Given the description of an element on the screen output the (x, y) to click on. 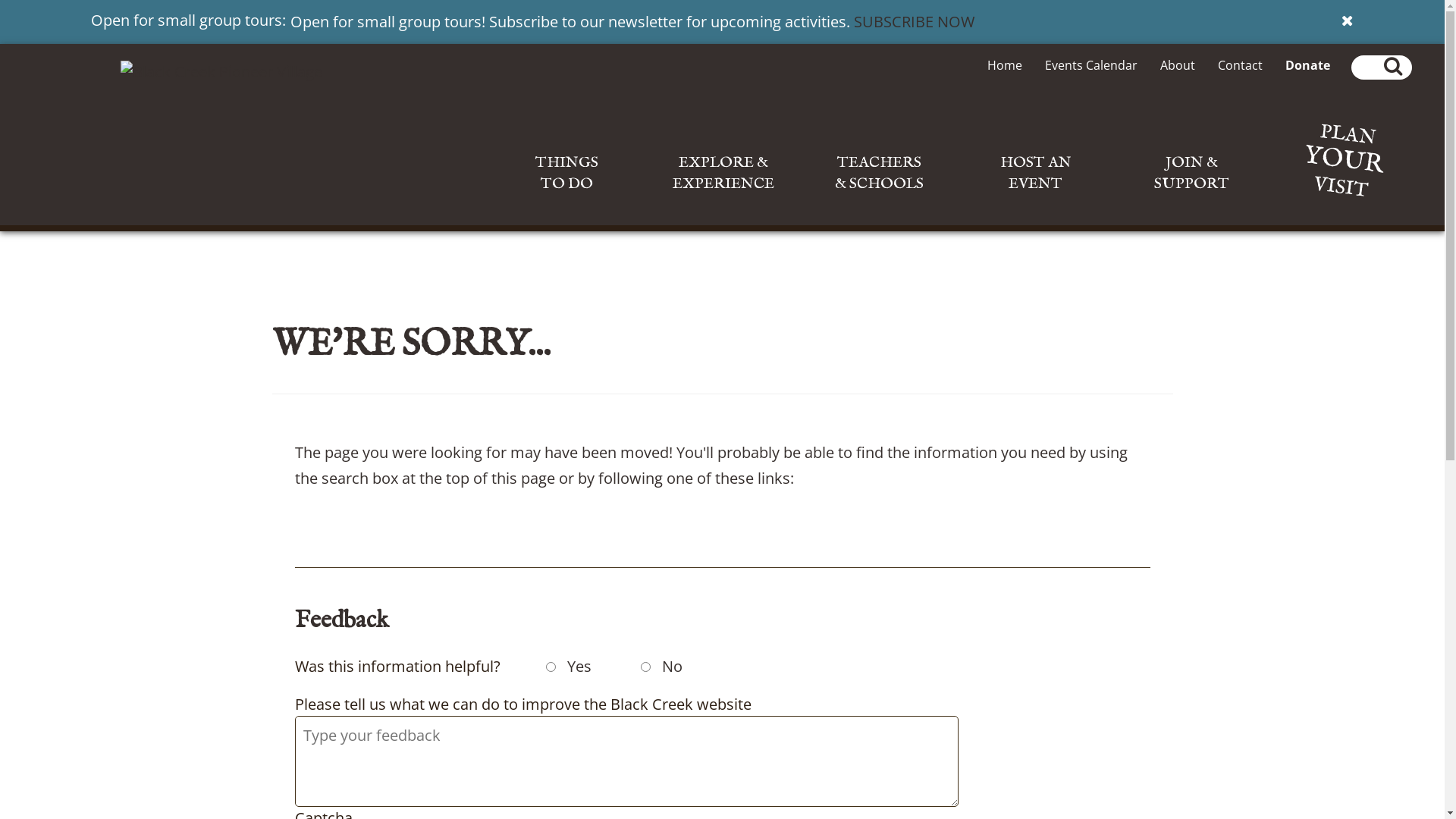
THINGS
TO DO Element type: text (567, 193)
About Element type: text (1177, 64)
Contact Element type: text (1239, 64)
Events Calendar Element type: text (1090, 64)
Donate Element type: text (1307, 64)
Search Element type: text (1421, 61)
Home Element type: text (1004, 64)
EXPLORE &
EXPERIENCE Element type: text (723, 193)
HOST AN
EVENT Element type: text (1035, 193)
JOIN &
SUPPORT Element type: text (1191, 193)
SUBSCRIBE NOW Element type: text (913, 21)
TEACHERS
& SCHOOLS Element type: text (879, 193)
